Given the description of an element on the screen output the (x, y) to click on. 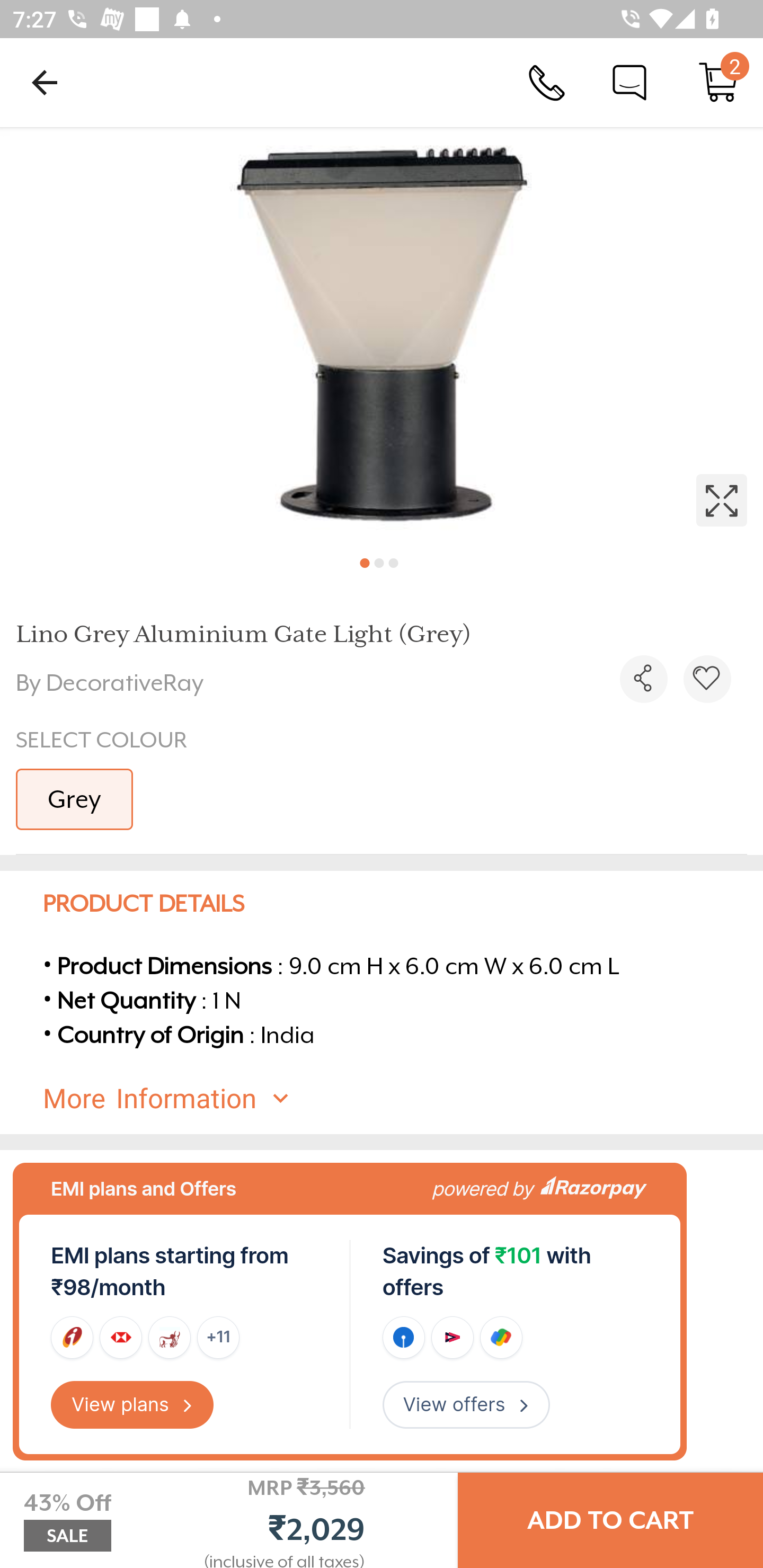
Navigate up (44, 82)
Call Us (546, 81)
Chat (629, 81)
Cart (718, 81)
 (381, 334)
 (643, 678)
 (706, 678)
Grey (74, 798)
More Information  (396, 1098)
View plans (132, 1404)
View offers (465, 1404)
ADD TO CART (610, 1520)
